Given the description of an element on the screen output the (x, y) to click on. 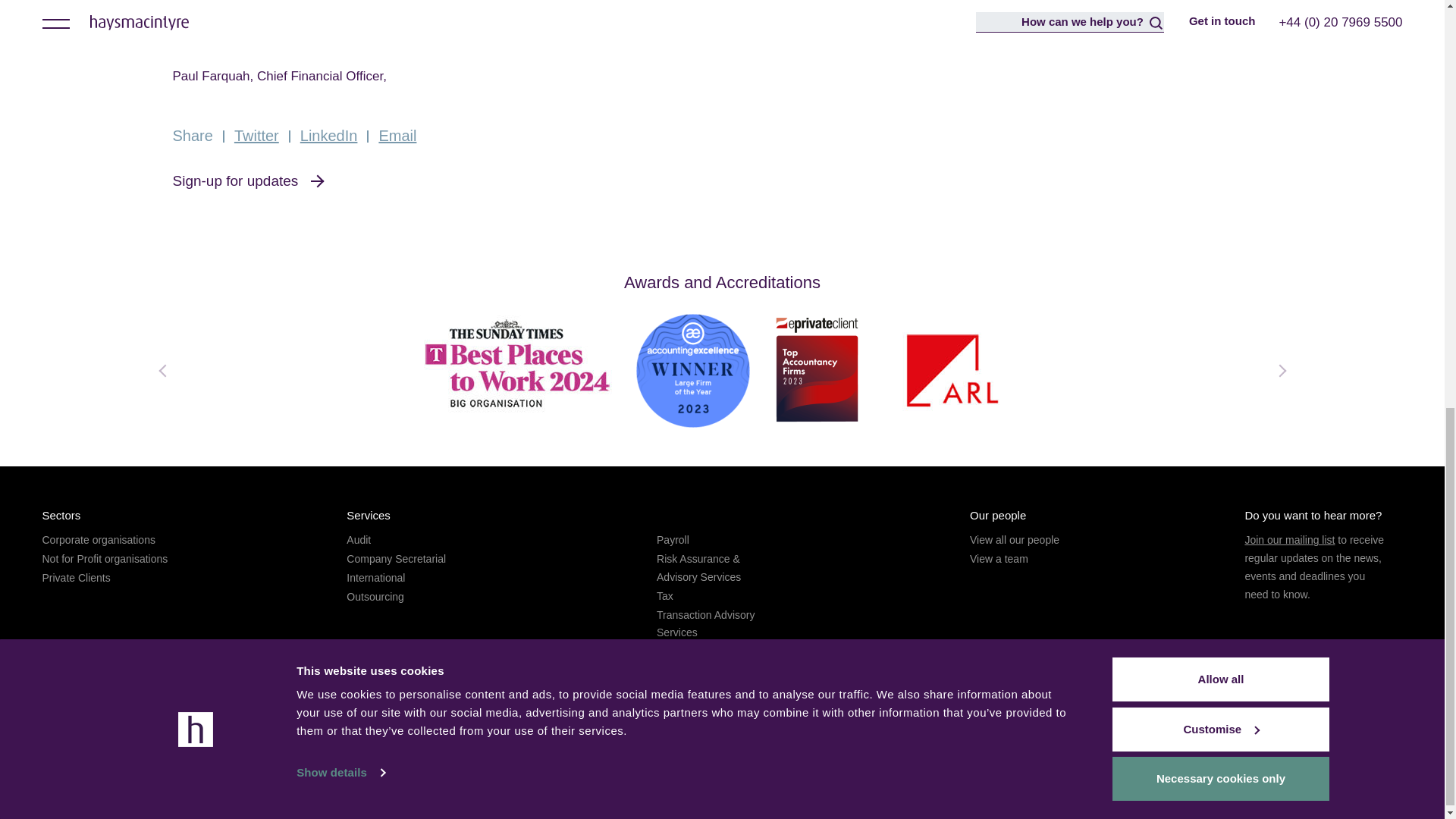
Share on Twitter - opens in a new window (256, 135)
Share on LinkedIn - opens in a new window (328, 135)
